Given the description of an element on the screen output the (x, y) to click on. 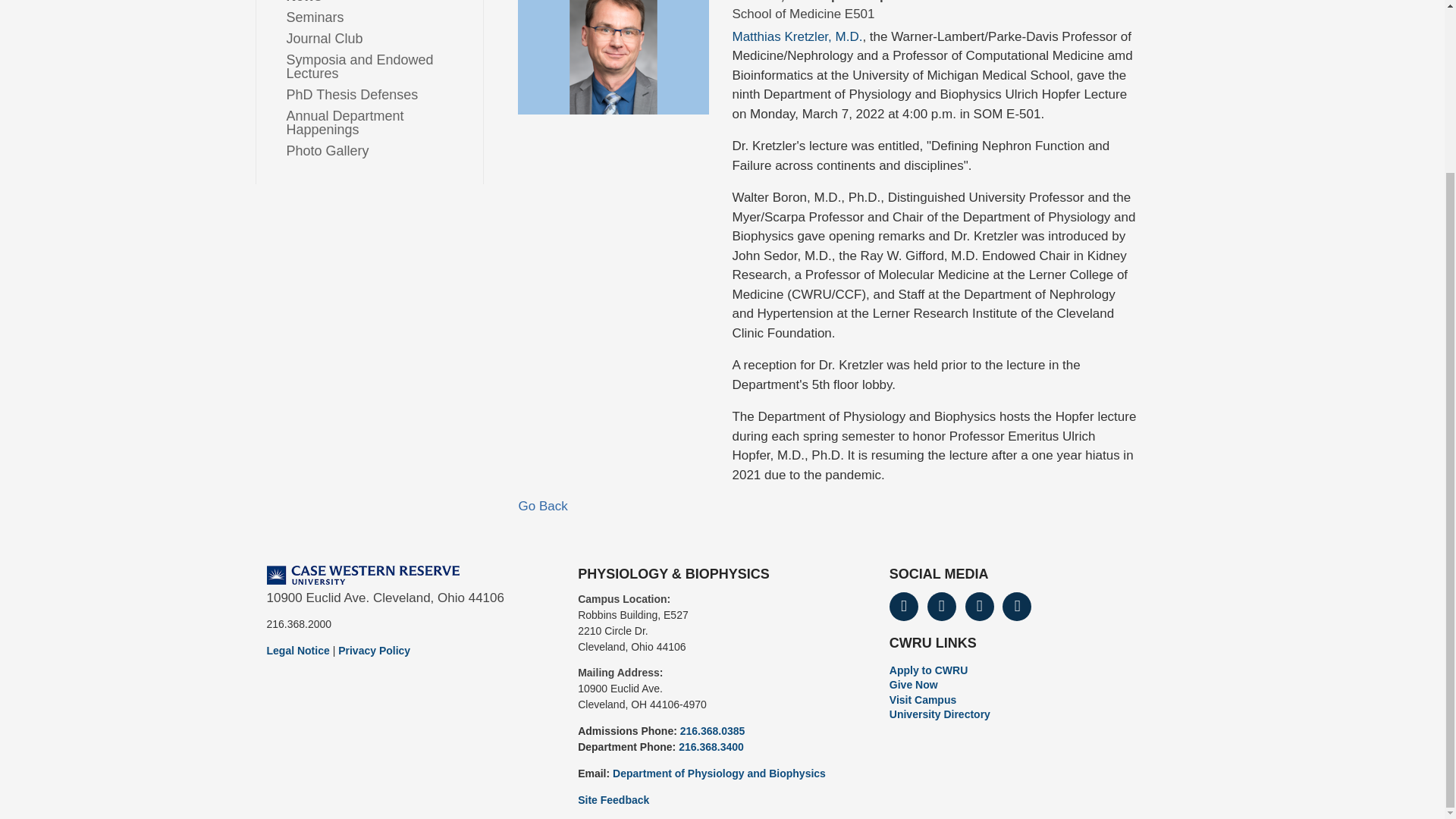
Case Western Reserve University (363, 574)
CWRU Instagram (979, 606)
CWRU Linkedin (1016, 606)
CWRU Facebook (903, 606)
CWRU Twitter (941, 606)
